Given the description of an element on the screen output the (x, y) to click on. 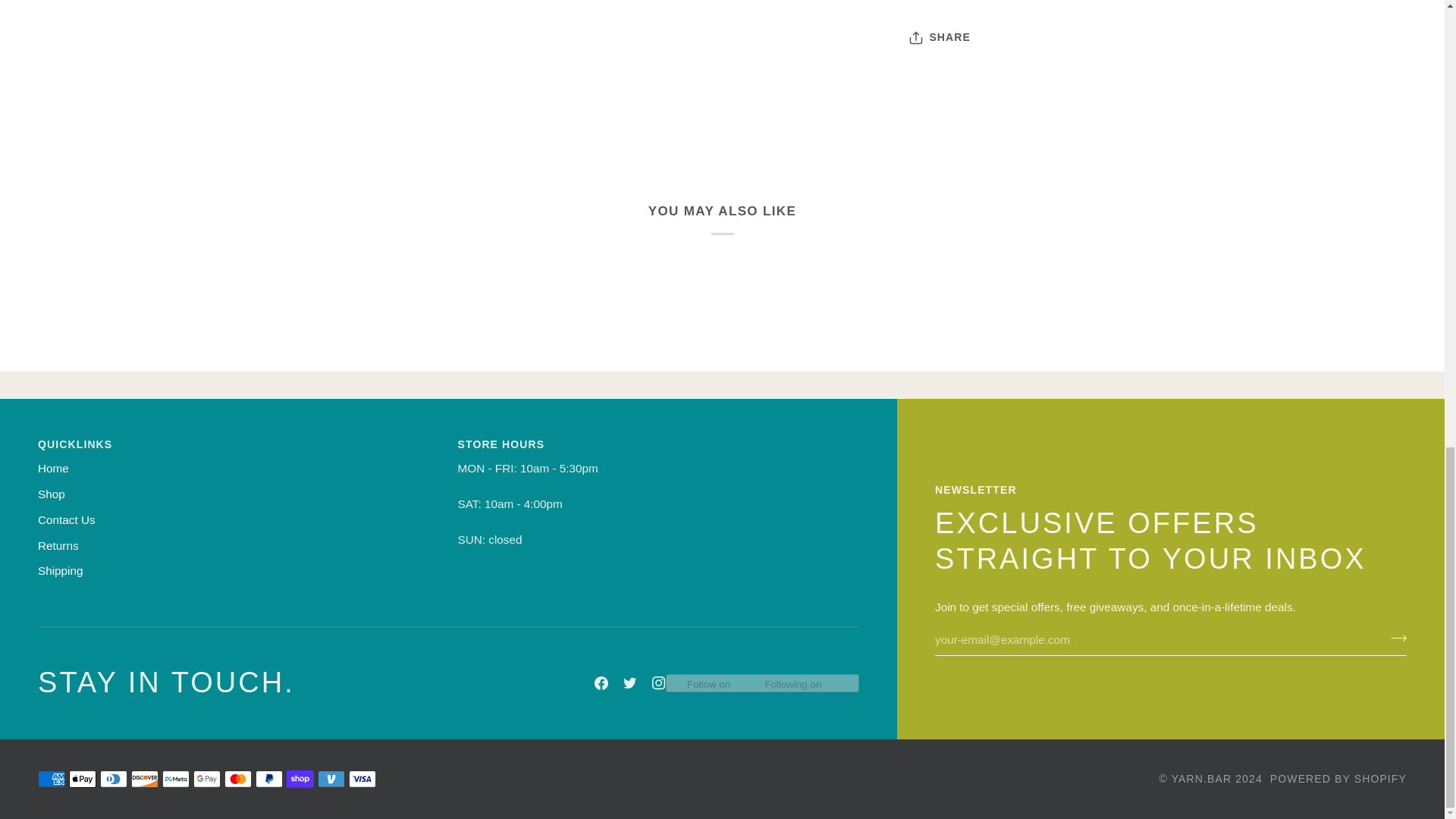
GOOGLE PAY (207, 778)
AMERICAN EXPRESS (51, 778)
VISA (362, 778)
VENMO (331, 778)
DISCOVER (144, 778)
MASTERCARD (237, 778)
SHOP PAY (300, 778)
DINERS CLUB (114, 778)
META PAY (175, 778)
APPLE PAY (82, 778)
